Given the description of an element on the screen output the (x, y) to click on. 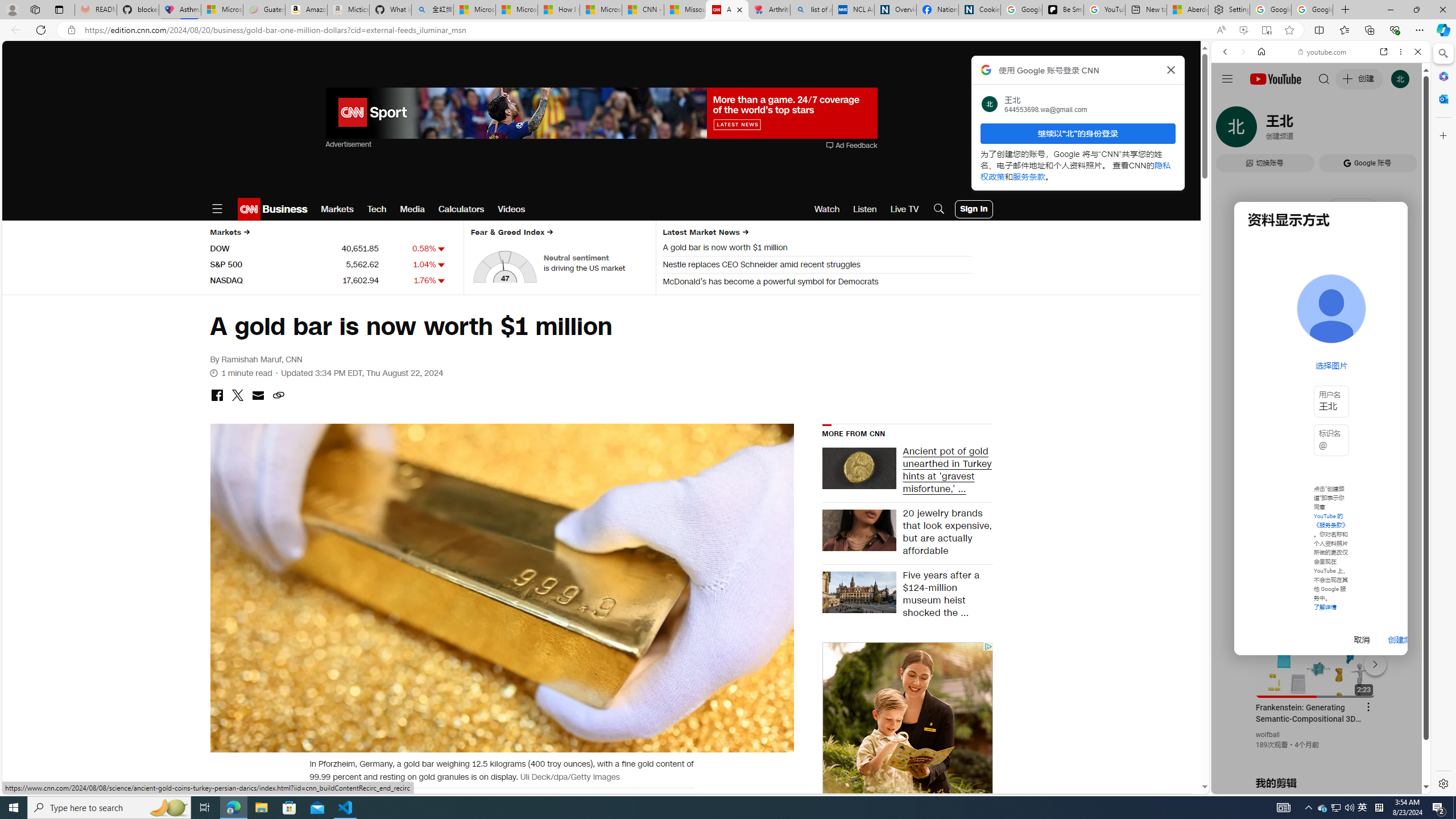
AutomationID: aw0 (600, 113)
Search Icon (938, 208)
Calculators (461, 209)
Tech (376, 209)
